Given the description of an element on the screen output the (x, y) to click on. 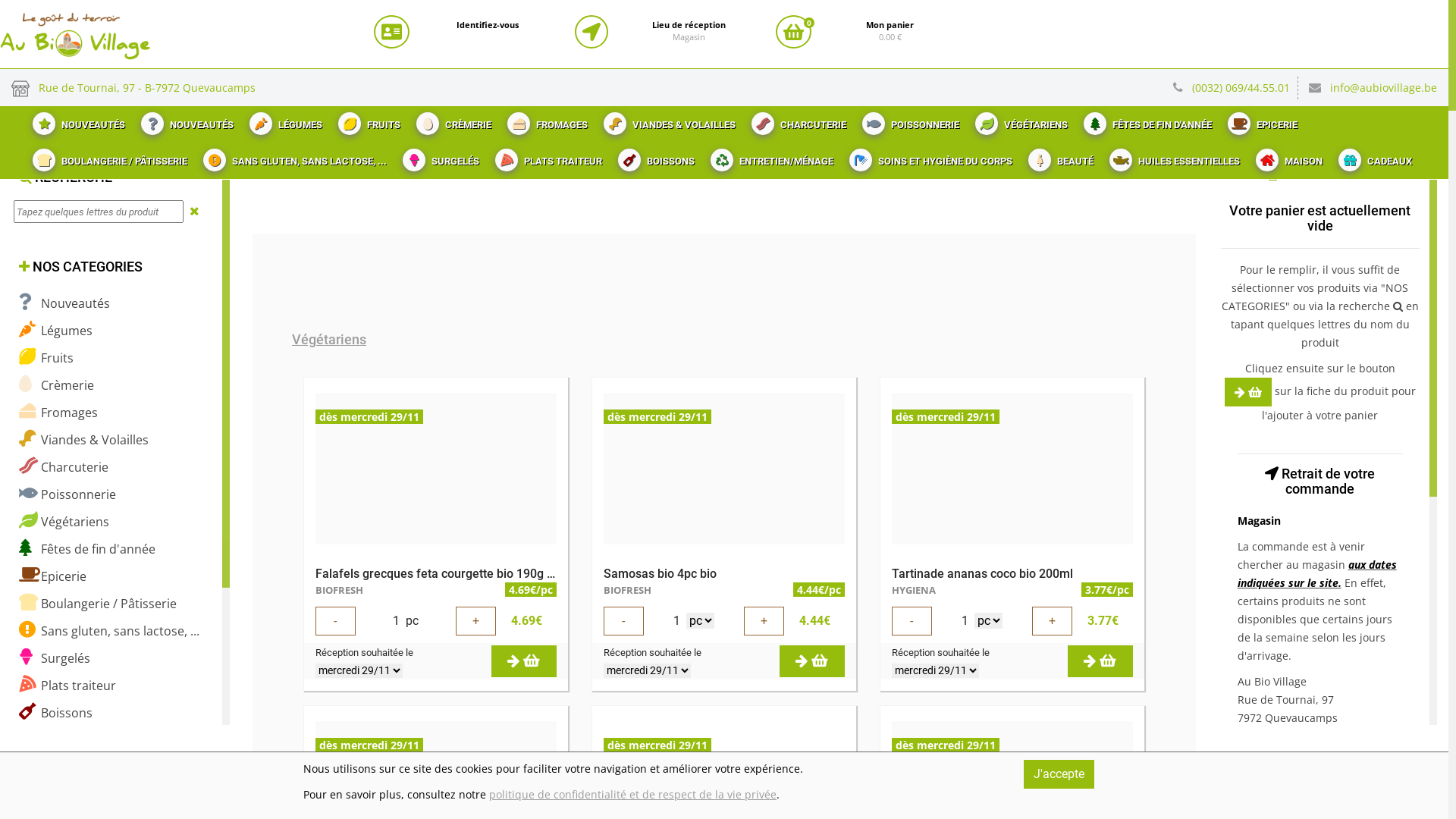
Epicerie Element type: text (52, 575)
Identifiez-vous Element type: text (487, 24)
+ Element type: text (475, 620)
EPICERIE Element type: text (1260, 120)
+ Element type: text (763, 620)
Fromages Element type: text (57, 411)
- Element type: text (623, 620)
Sans gluten, sans lactose, ... Element type: text (108, 630)
Viandes & Volailles Element type: text (83, 438)
Poissonnerie Element type: text (67, 493)
(0032) 069/44.55.01 Element type: text (1245, 87)
Plats traiteur Element type: text (67, 684)
info@aubiovillage.be Element type: text (1383, 87)
J'accepte Element type: text (1058, 773)
Boissons Element type: text (55, 711)
CADEAUX Element type: text (1373, 156)
FROMAGES Element type: text (545, 120)
- Element type: text (911, 620)
HUILES ESSENTIELLES Element type: text (1172, 156)
- Element type: text (335, 620)
PLATS TRAITEUR Element type: text (546, 156)
+ Element type: text (1052, 620)
SANS GLUTEN, SANS LACTOSE, ... Element type: text (292, 156)
Fruits Element type: text (45, 357)
POISSONNERIE Element type: text (908, 120)
FRUITS Element type: text (367, 120)
Charcuterie Element type: text (63, 466)
0 Element type: text (793, 31)
CHARCUTERIE Element type: text (796, 120)
VIANDES & VOLAILLES Element type: text (667, 120)
BOISSONS Element type: text (654, 156)
MAISON Element type: text (1286, 156)
